Given the description of an element on the screen output the (x, y) to click on. 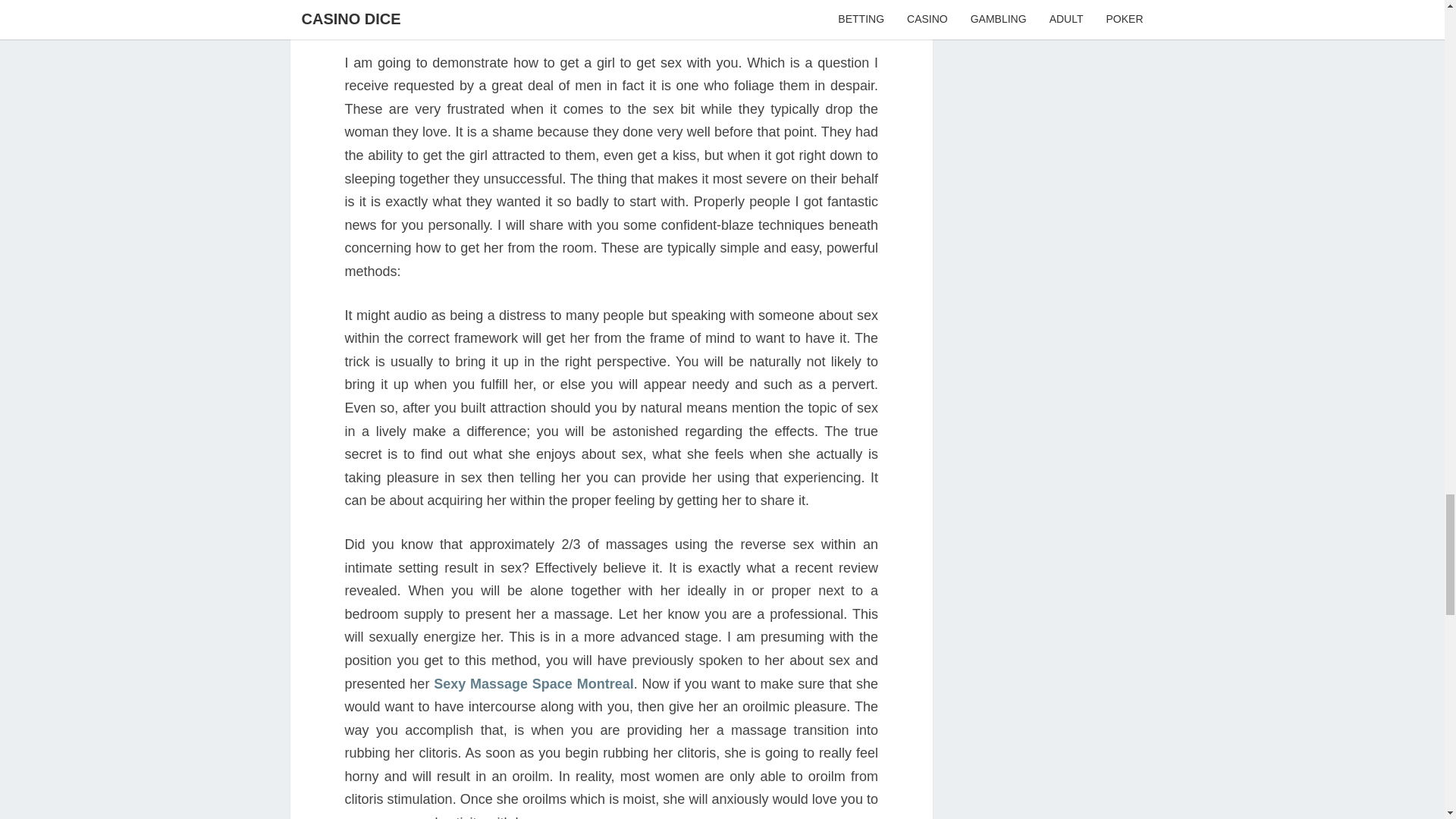
Sexy Massage Space Montreal (533, 683)
Perry (666, 10)
March 4, 2023 (594, 10)
5:46 am (594, 10)
View all posts by Perry (666, 10)
